Given the description of an element on the screen output the (x, y) to click on. 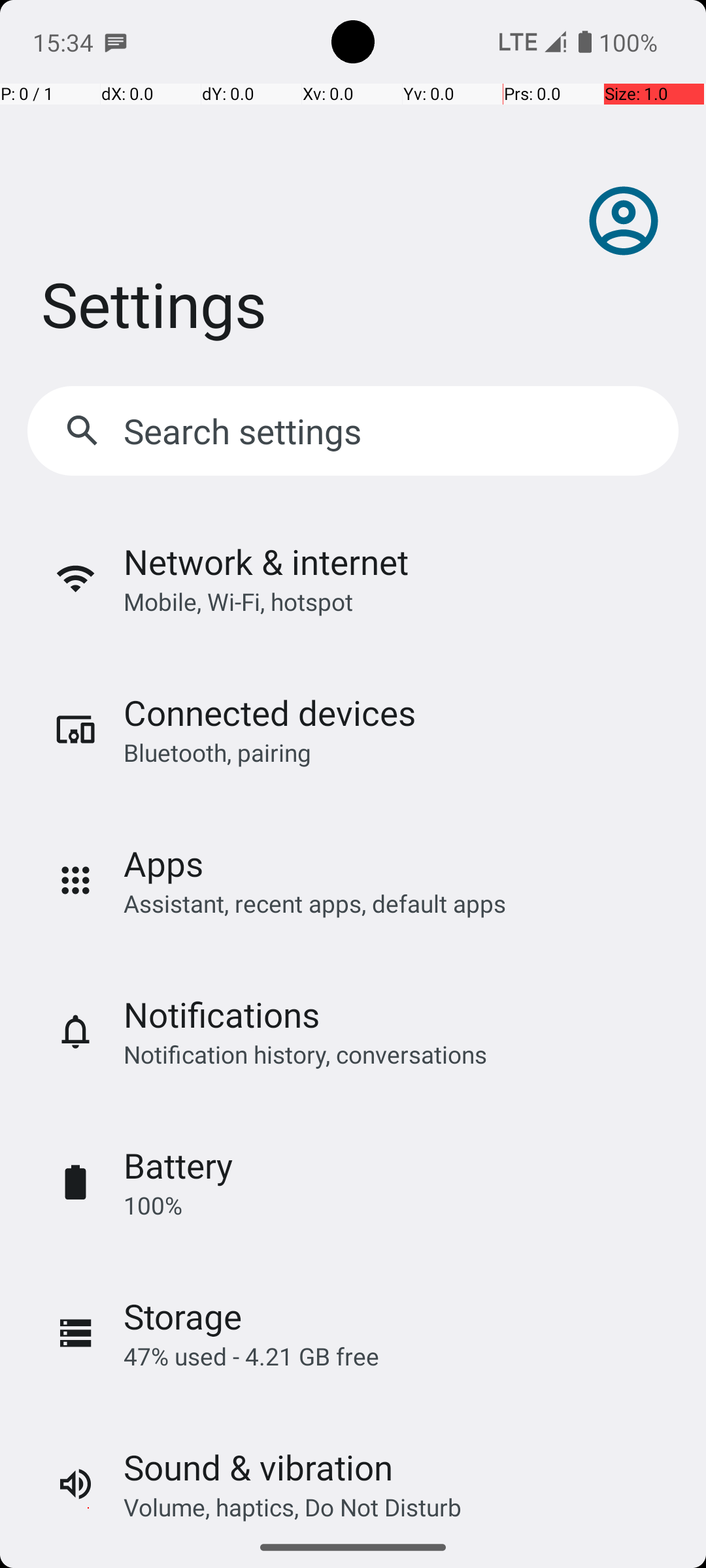
47% used - 4.21 GB free Element type: android.widget.TextView (251, 1355)
